Given the description of an element on the screen output the (x, y) to click on. 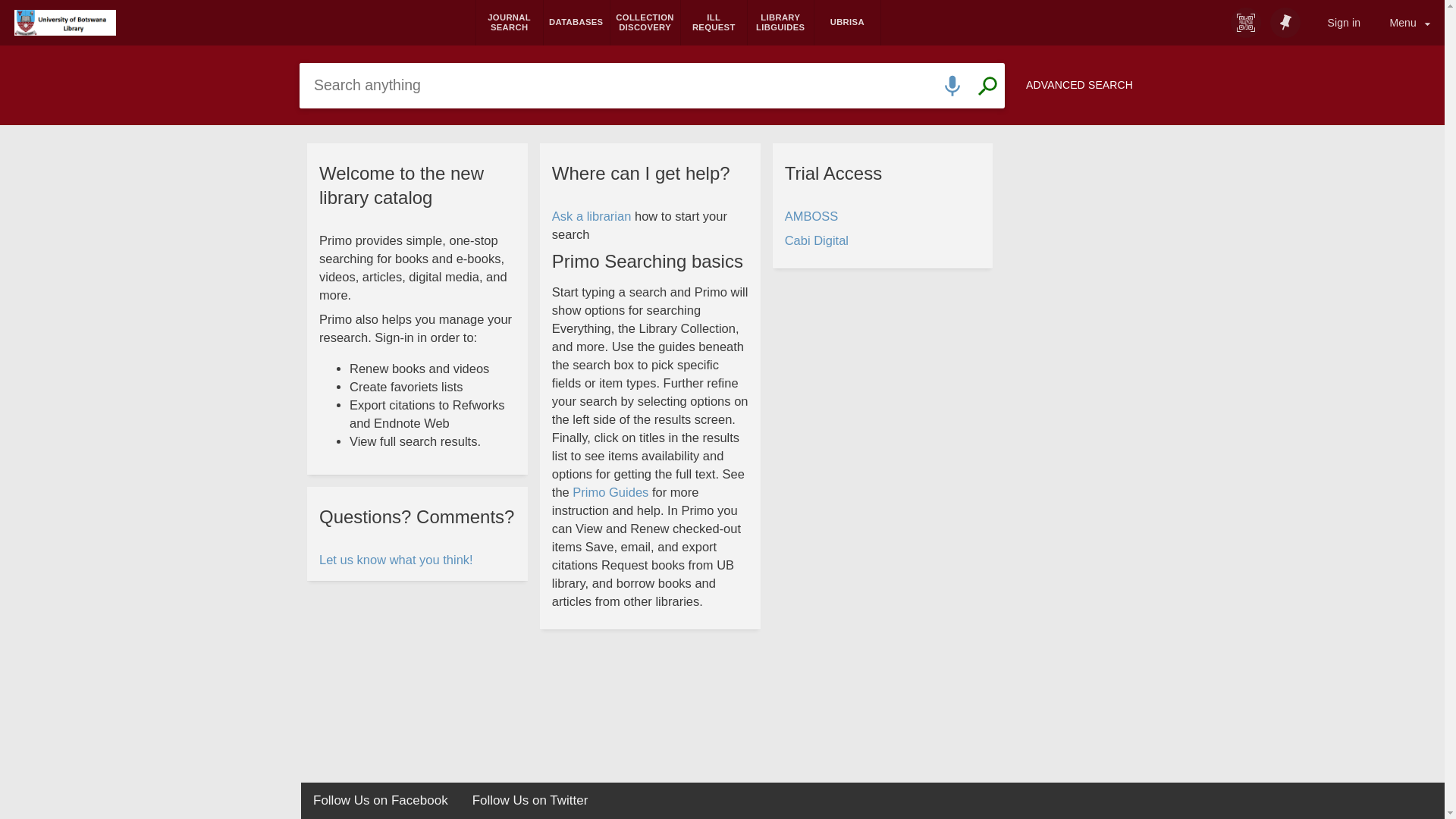
COLLECTION DISCOVERY Element type: text (644, 22)
Menu Element type: text (1410, 22)
AMBOSS Element type: text (811, 216)
ADVANCED SEARCH Element type: text (1079, 84)
JOURNAL SEARCH Element type: text (509, 22)
Primo Guides Element type: text (610, 492)
DATABASES Element type: text (575, 22)
Let us know what you think! Element type: text (397, 559)
ILL REQUEST Element type: text (713, 22)
Ask a librarian Element type: text (591, 216)
Cabi Digital Element type: text (816, 240)
UBRISA Element type: text (846, 22)
Sign in Element type: text (1343, 22)
LIBRARY LIBGUIDES Element type: text (779, 22)
